Given the description of an element on the screen output the (x, y) to click on. 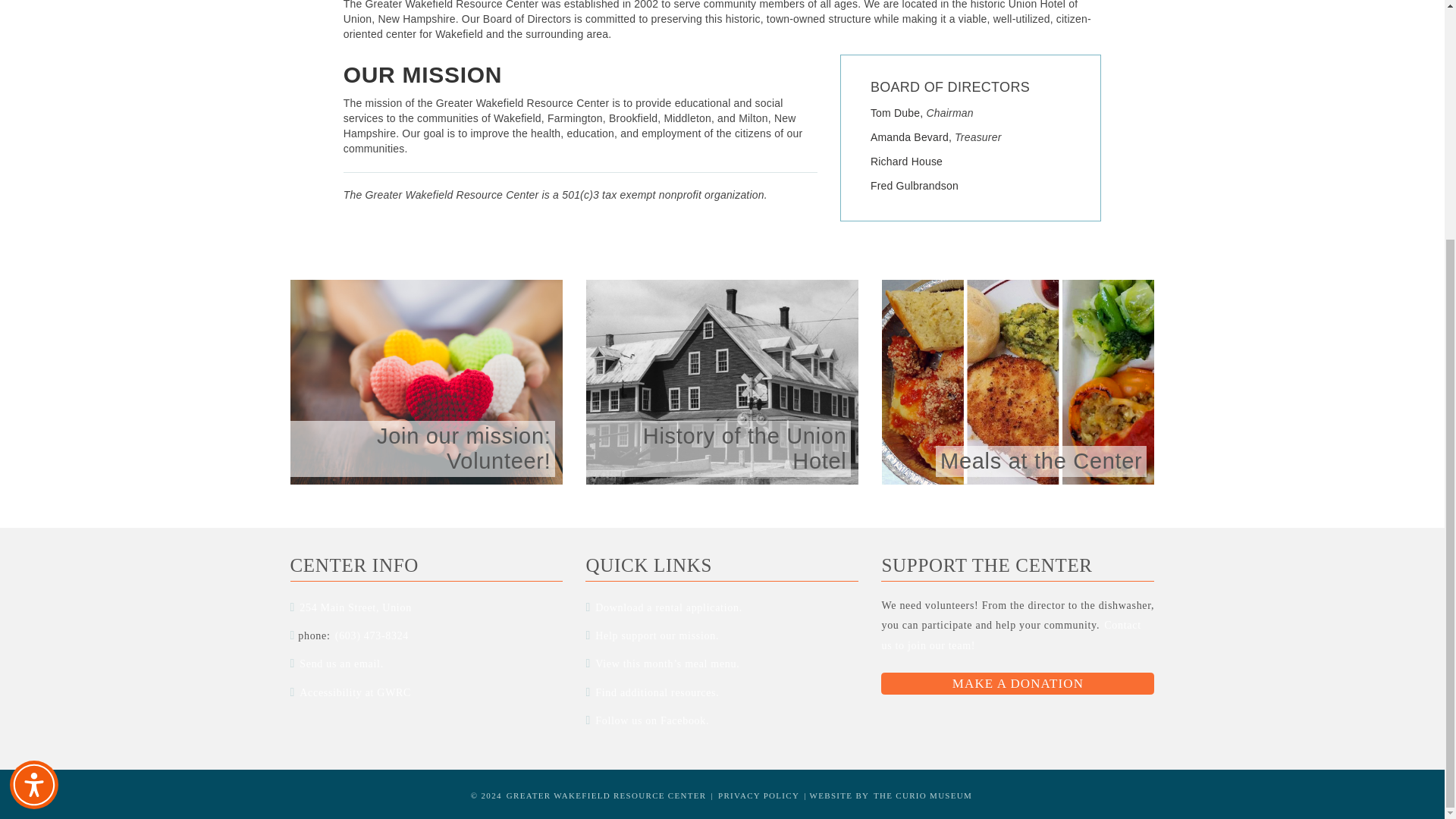
Accessibility at GWRC (355, 692)
History of the Union Hotel (722, 382)
Find additional resources. (657, 692)
254 Main Street, Union (355, 607)
Meals at the Center (1017, 382)
Download a rental application. (669, 607)
Help support our mission. (657, 635)
Accessibility Menu (34, 455)
Join our mission: Volunteer! (425, 382)
Send us an email. (341, 663)
